Given the description of an element on the screen output the (x, y) to click on. 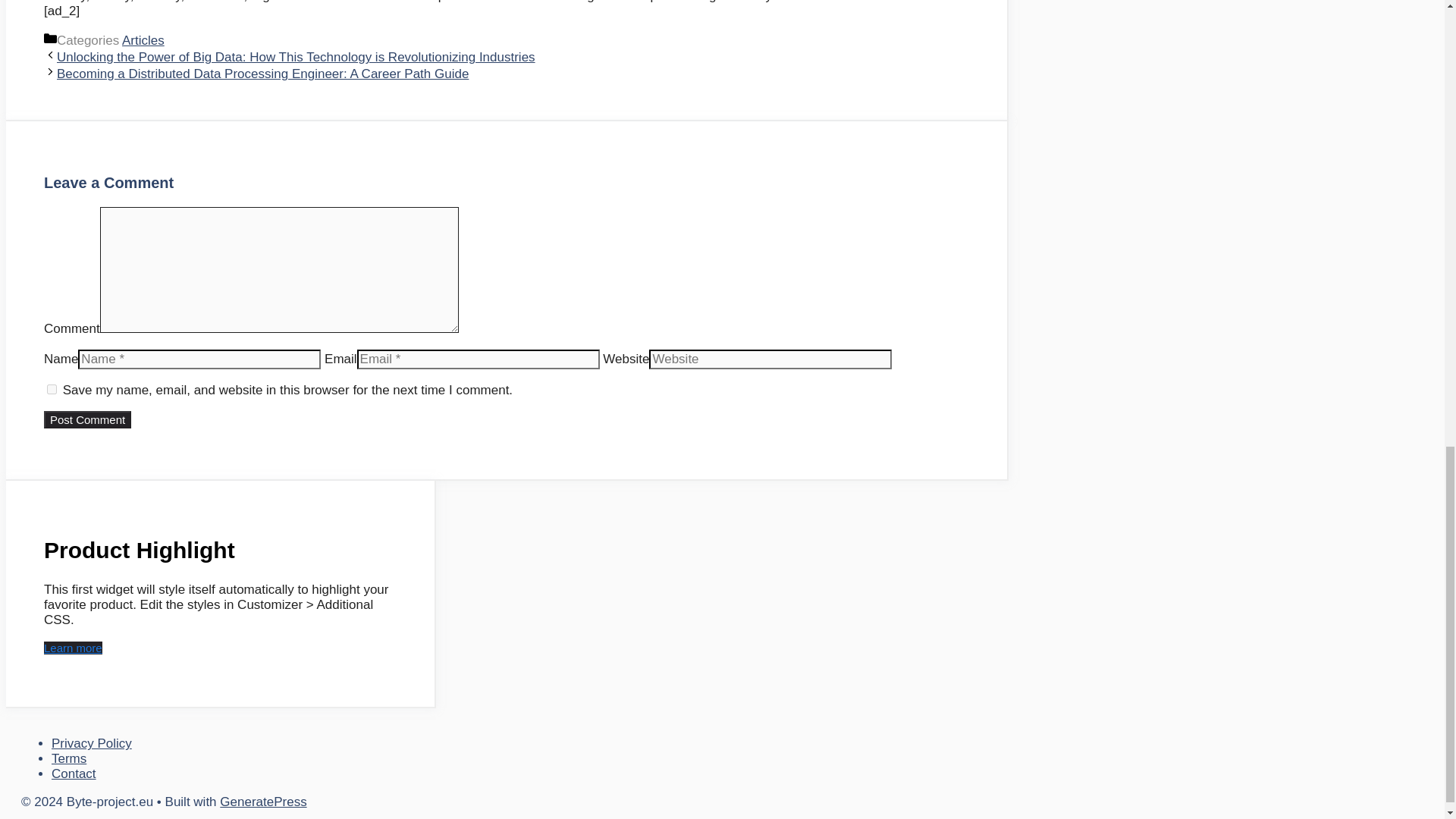
Contact (73, 773)
Articles (143, 40)
Terms (67, 758)
Post Comment (87, 419)
yes (51, 388)
Learn more (72, 647)
Privacy Policy (91, 743)
GeneratePress (262, 801)
Post Comment (87, 419)
